Given the description of an element on the screen output the (x, y) to click on. 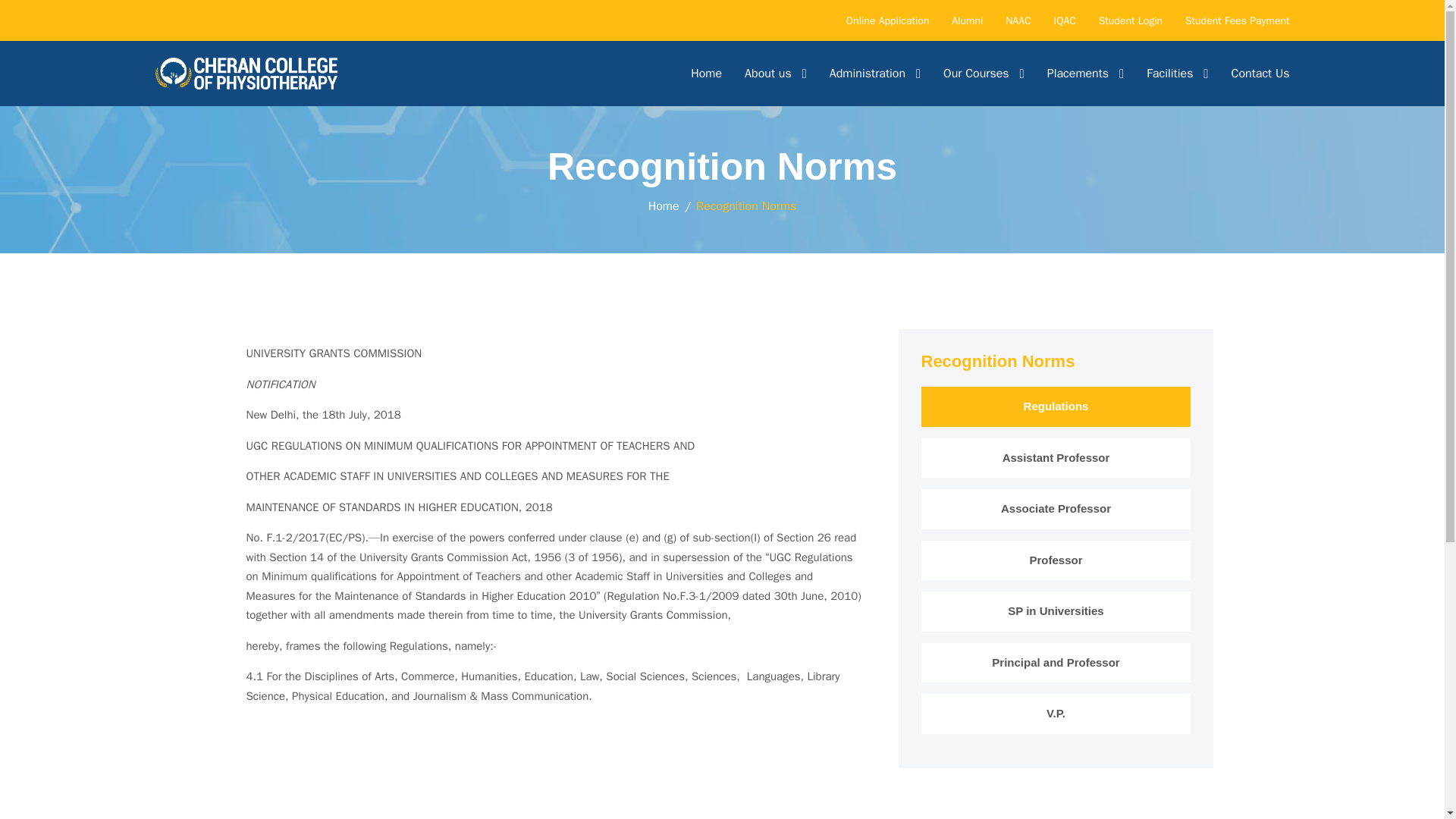
IQAC (1064, 20)
Our Courses (984, 73)
NAAC (1018, 20)
Facilities (1177, 73)
Alumni (967, 20)
Student Fees Payment (1237, 20)
Home (706, 73)
Placements (1085, 73)
Online Application (887, 20)
Go to Cheran College of Physiotherapy. (663, 206)
About us (775, 73)
Student Login (1130, 20)
Administration (874, 73)
